Given the description of an element on the screen output the (x, y) to click on. 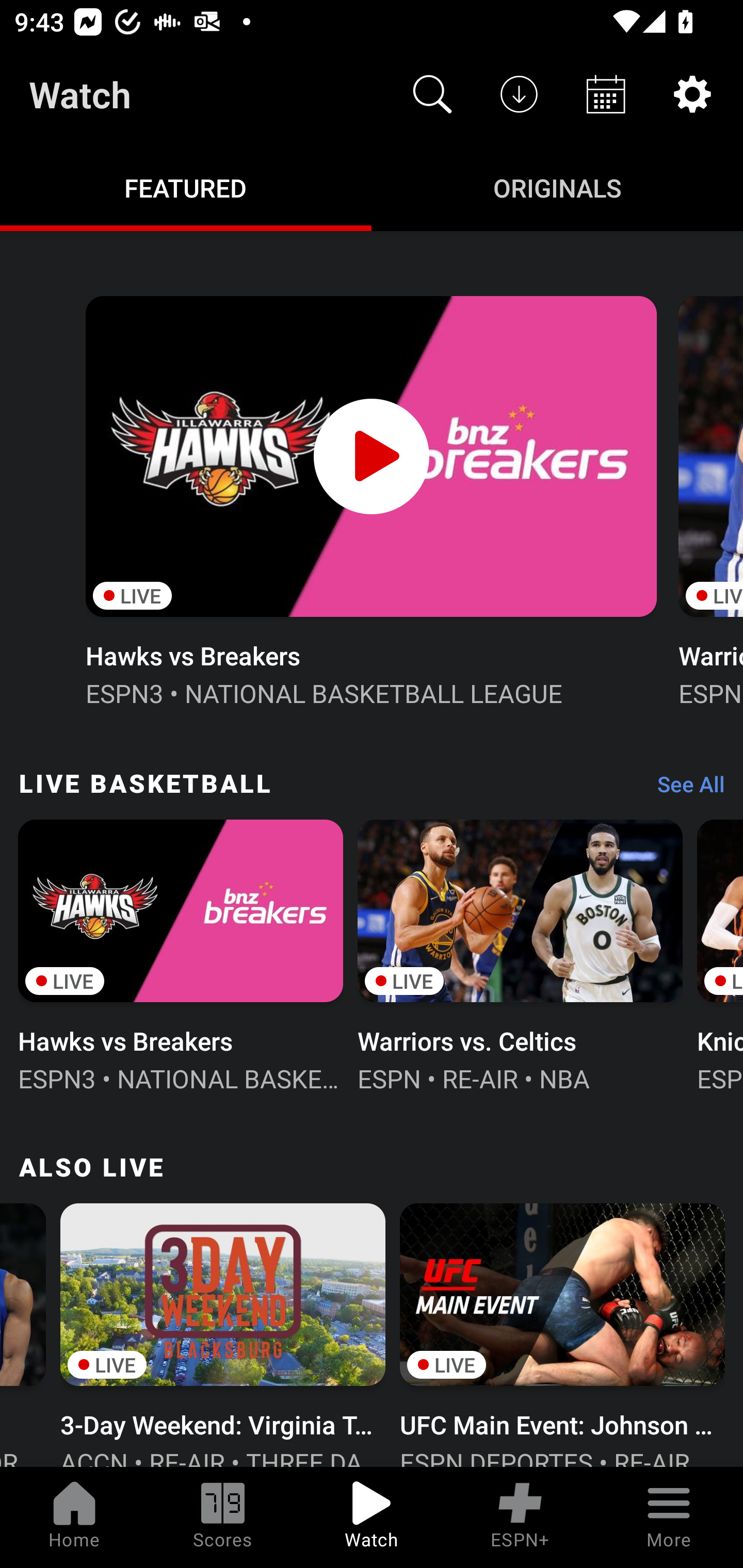
Search (432, 93)
Downloads (518, 93)
Schedule (605, 93)
Settings (692, 93)
Originals ORIGINALS (557, 187)
See All (683, 788)
LIVE Warriors vs. Celtics ESPN • RE-AIR • NBA (519, 954)
Home (74, 1517)
Scores (222, 1517)
ESPN+ (519, 1517)
More (668, 1517)
